Given the description of an element on the screen output the (x, y) to click on. 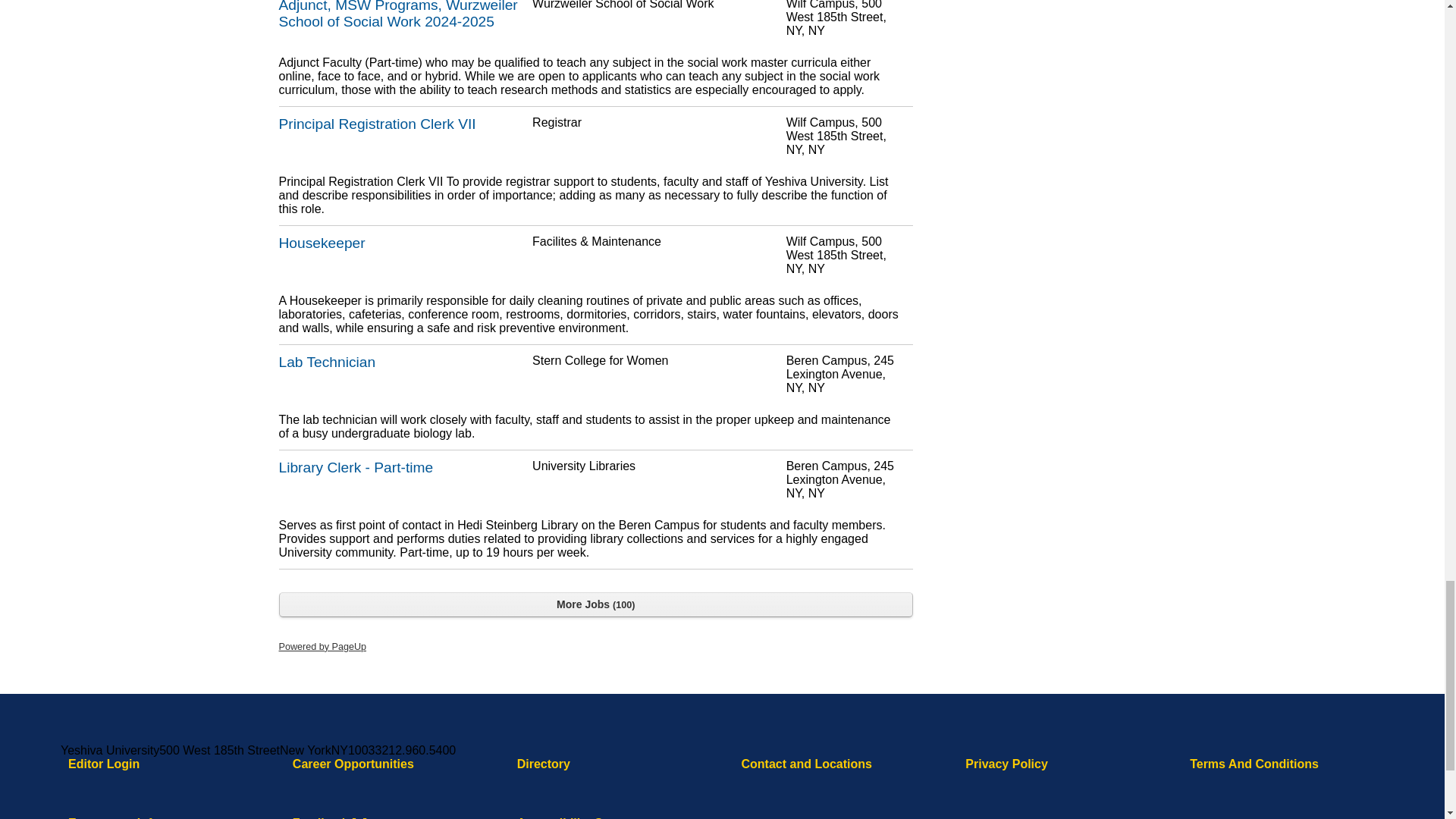
Accessibility Statement (584, 817)
More Jobs (595, 604)
